Given the description of an element on the screen output the (x, y) to click on. 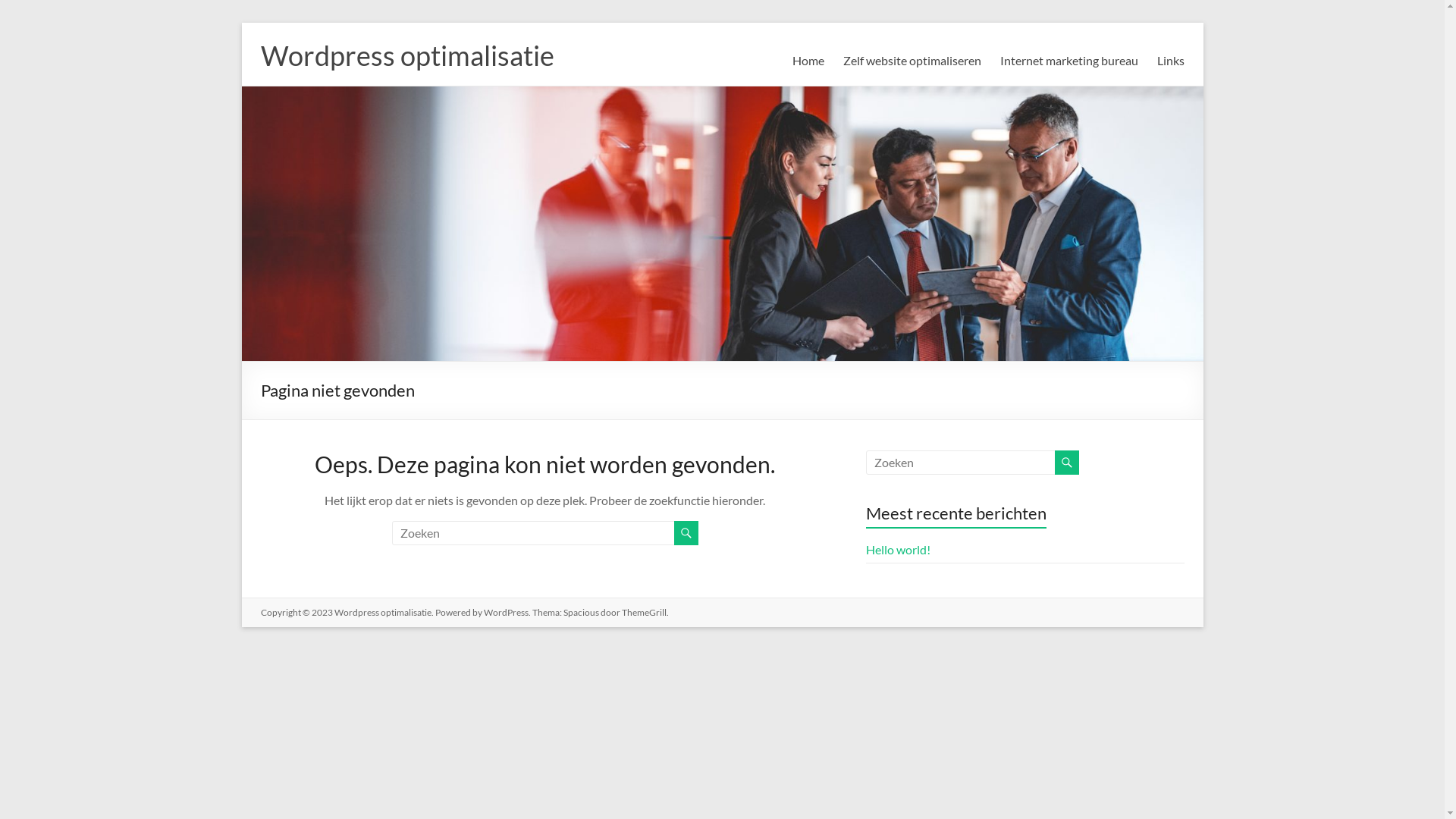
Internet marketing bureau Element type: text (1068, 60)
ThemeGrill Element type: text (643, 612)
Links Element type: text (1170, 60)
WordPress Element type: text (505, 612)
Zelf website optimaliseren Element type: text (912, 60)
Home Element type: text (807, 60)
Hello world! Element type: text (898, 549)
Wordpress optimalisatie Element type: text (407, 55)
Wordpress optimalisatie Element type: text (381, 612)
Skip to content Element type: text (241, 21)
